Given the description of an element on the screen output the (x, y) to click on. 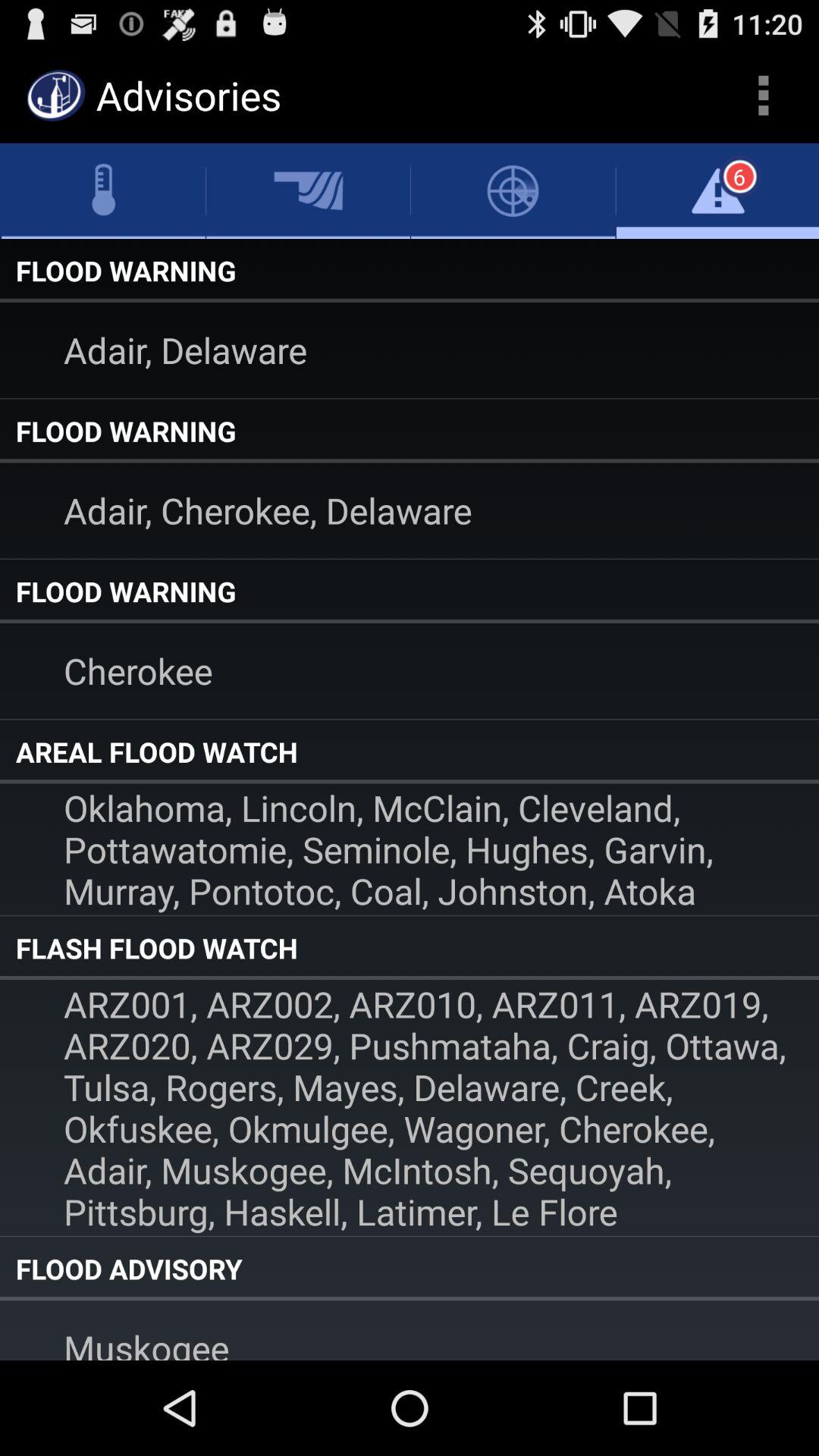
click the areal flood watch app (409, 751)
